Given the description of an element on the screen output the (x, y) to click on. 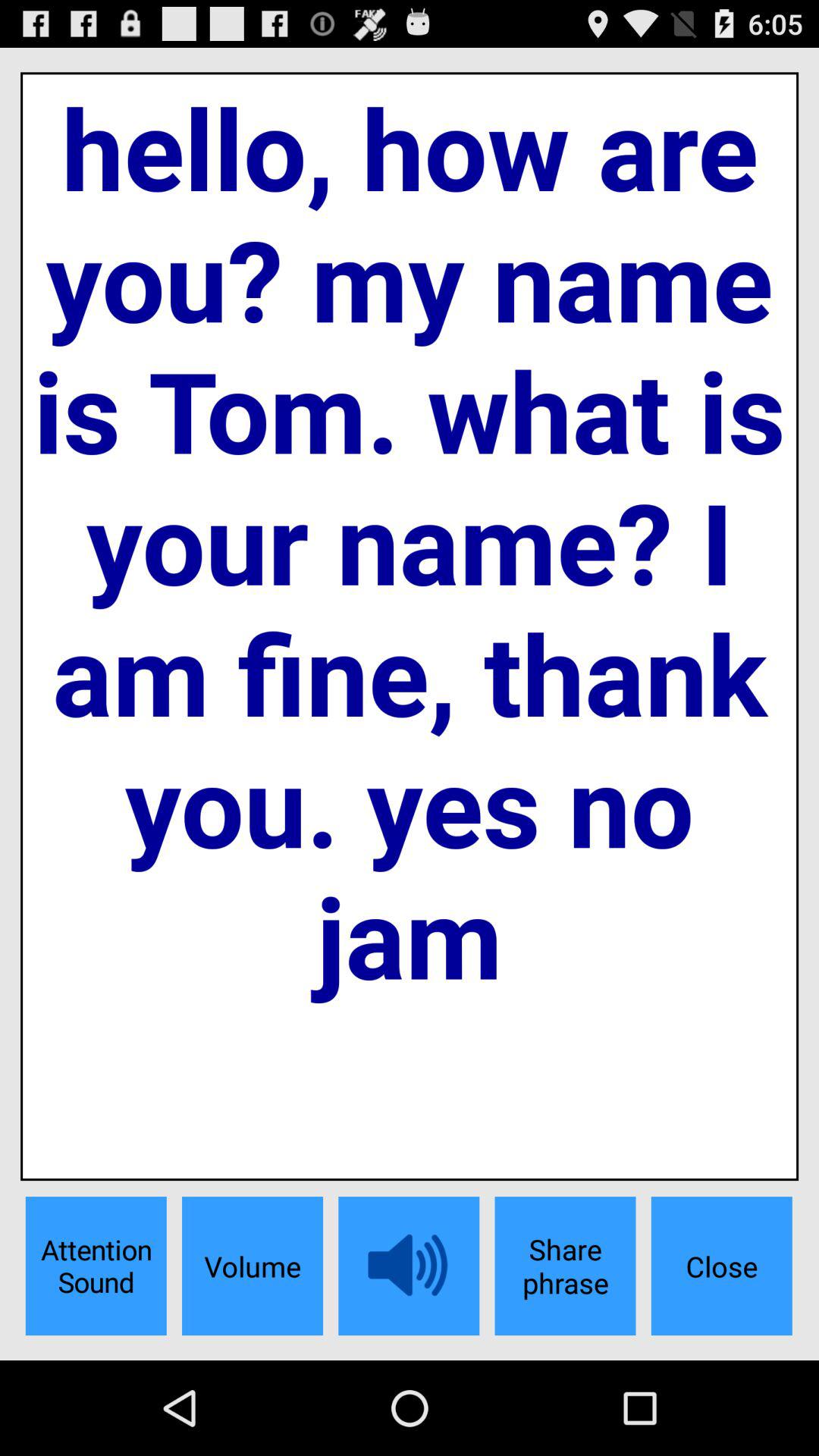
press the button to the left of close (564, 1265)
